Given the description of an element on the screen output the (x, y) to click on. 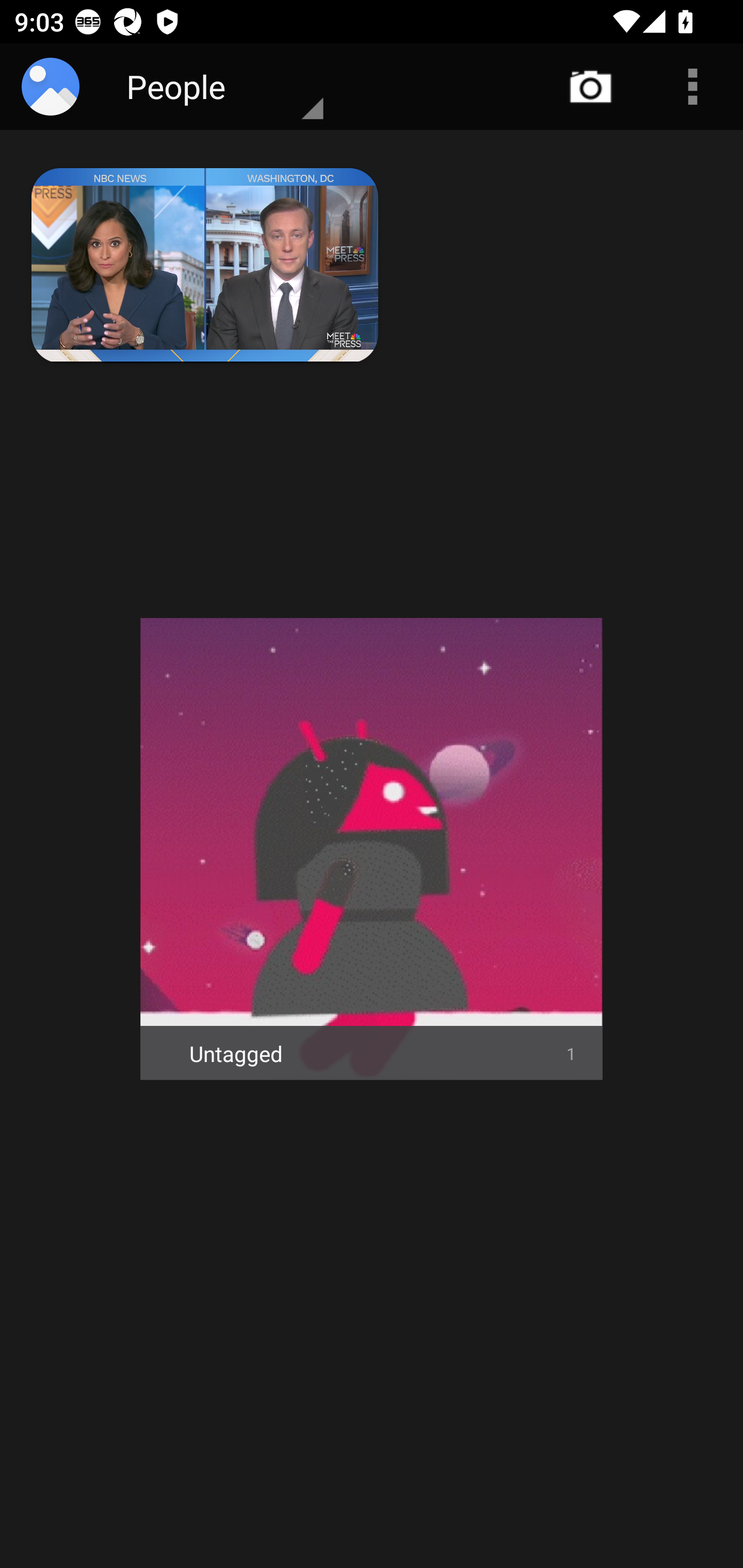
People (208, 86)
Switch to Camera (590, 86)
More options (692, 86)
